Given the description of an element on the screen output the (x, y) to click on. 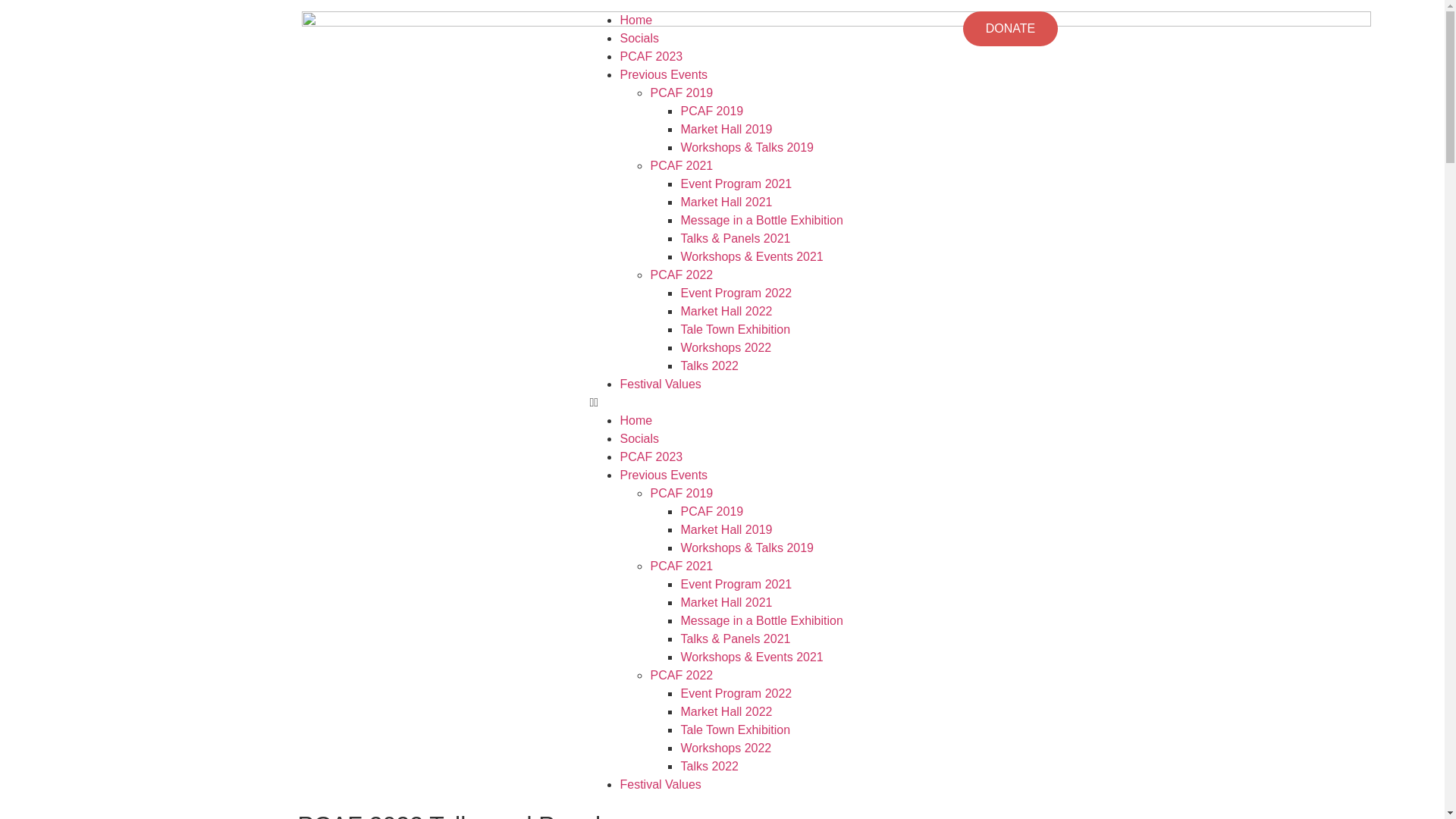
Festival Values Element type: text (659, 784)
PCAF 2021 Element type: text (680, 165)
Workshops & Events 2021 Element type: text (751, 256)
Event Program 2022 Element type: text (735, 693)
Socials Element type: text (638, 438)
Tale Town Exhibition Element type: text (735, 729)
Market Hall 2021 Element type: text (725, 602)
Talks & Panels 2021 Element type: text (735, 238)
Message in a Bottle Exhibition Element type: text (761, 219)
PCAF 2019 Element type: text (711, 110)
Event Program 2021 Element type: text (735, 183)
Market Hall 2022 Element type: text (725, 310)
Talks 2022 Element type: text (709, 765)
Event Program 2022 Element type: text (735, 292)
Market Hall 2019 Element type: text (725, 128)
PCAF 2019 Element type: text (711, 511)
Workshops 2022 Element type: text (725, 747)
Home Element type: text (635, 420)
PCAF 2019 Element type: text (680, 492)
Workshops & Talks 2019 Element type: text (746, 147)
Previous Events Element type: text (663, 74)
Home Element type: text (635, 19)
Workshops & Events 2021 Element type: text (751, 656)
PCAF 2021 Element type: text (680, 565)
Festival Values Element type: text (659, 383)
Workshops & Talks 2019 Element type: text (746, 547)
PCAF 2023 Element type: text (650, 456)
PCAF 2019 Element type: text (680, 92)
Message in a Bottle Exhibition Element type: text (761, 620)
DONATE Element type: text (1010, 28)
Previous Events Element type: text (663, 474)
PCAF 2022 Element type: text (680, 274)
Talks 2022 Element type: text (709, 365)
Tale Town Exhibition Element type: text (735, 329)
Market Hall 2021 Element type: text (725, 201)
Market Hall 2019 Element type: text (725, 529)
Talks & Panels 2021 Element type: text (735, 638)
Event Program 2021 Element type: text (735, 583)
PCAF 2022 Element type: text (680, 674)
Workshops 2022 Element type: text (725, 347)
Socials Element type: text (638, 37)
Market Hall 2022 Element type: text (725, 711)
PCAF 2023 Element type: text (650, 56)
